Given the description of an element on the screen output the (x, y) to click on. 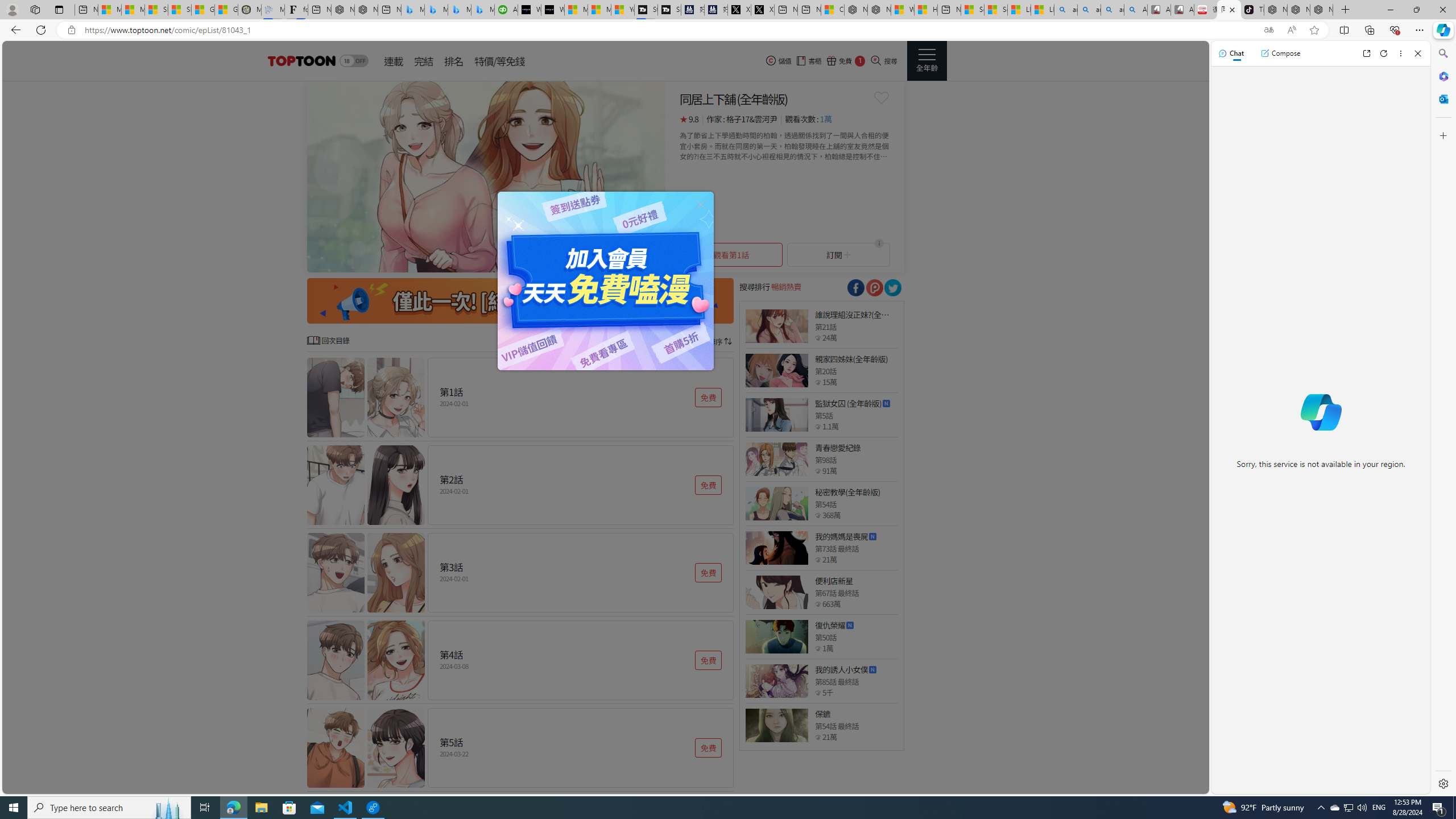
Side bar (1443, 418)
Class:  switch_18mode actionAdultBtn (353, 60)
